Given the description of an element on the screen output the (x, y) to click on. 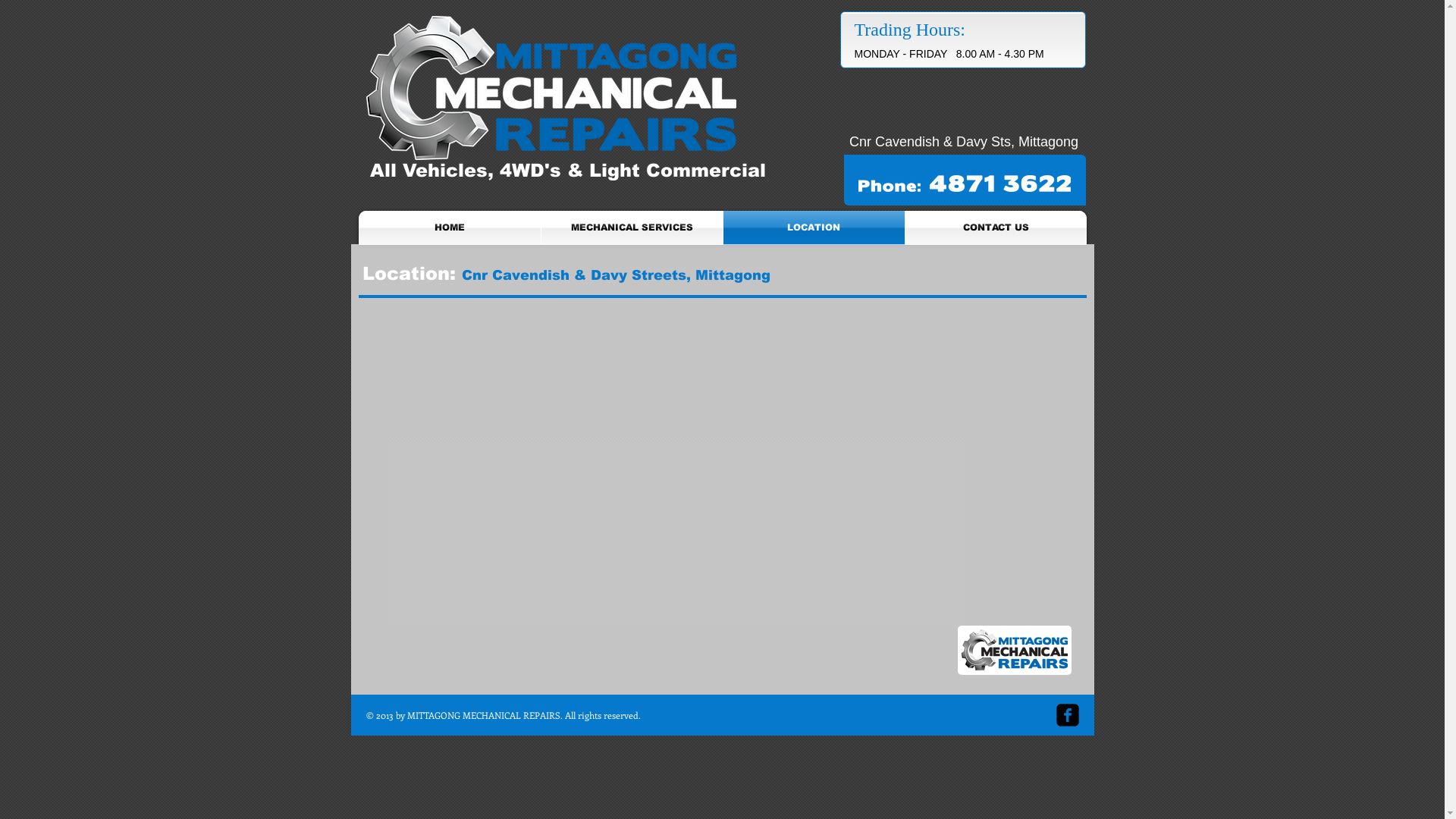
phone-white.png Element type: hover (964, 182)
LOCATION Element type: text (813, 227)
HOME Element type: text (448, 227)
logo.png Element type: hover (1013, 649)
logo-white.png Element type: hover (550, 87)
CONTACT US Element type: text (995, 227)
Google Maps Element type: hover (720, 503)
MECHANICAL SERVICES Element type: text (631, 227)
